Given the description of an element on the screen output the (x, y) to click on. 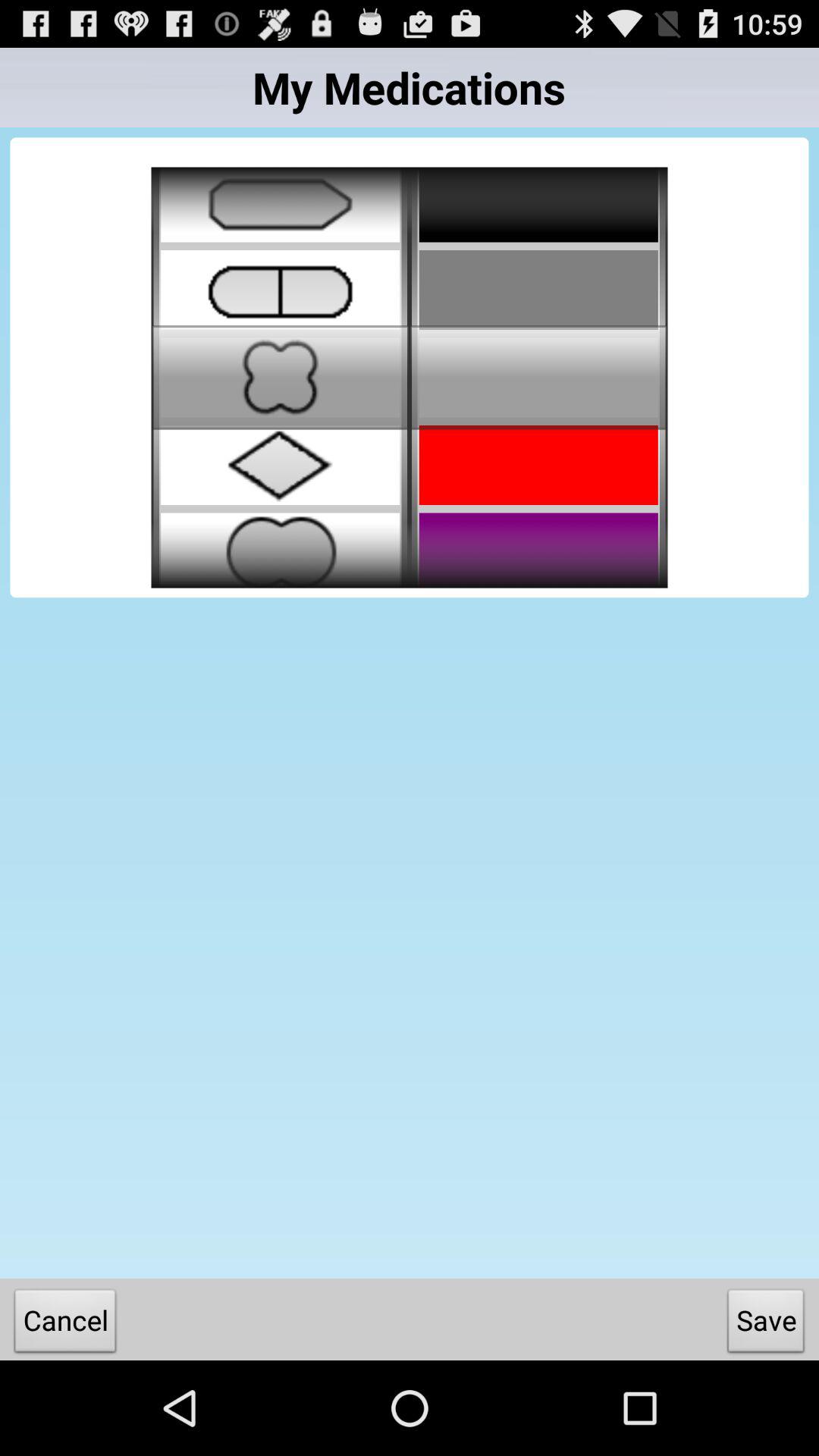
press the item next to cancel (765, 1324)
